Given the description of an element on the screen output the (x, y) to click on. 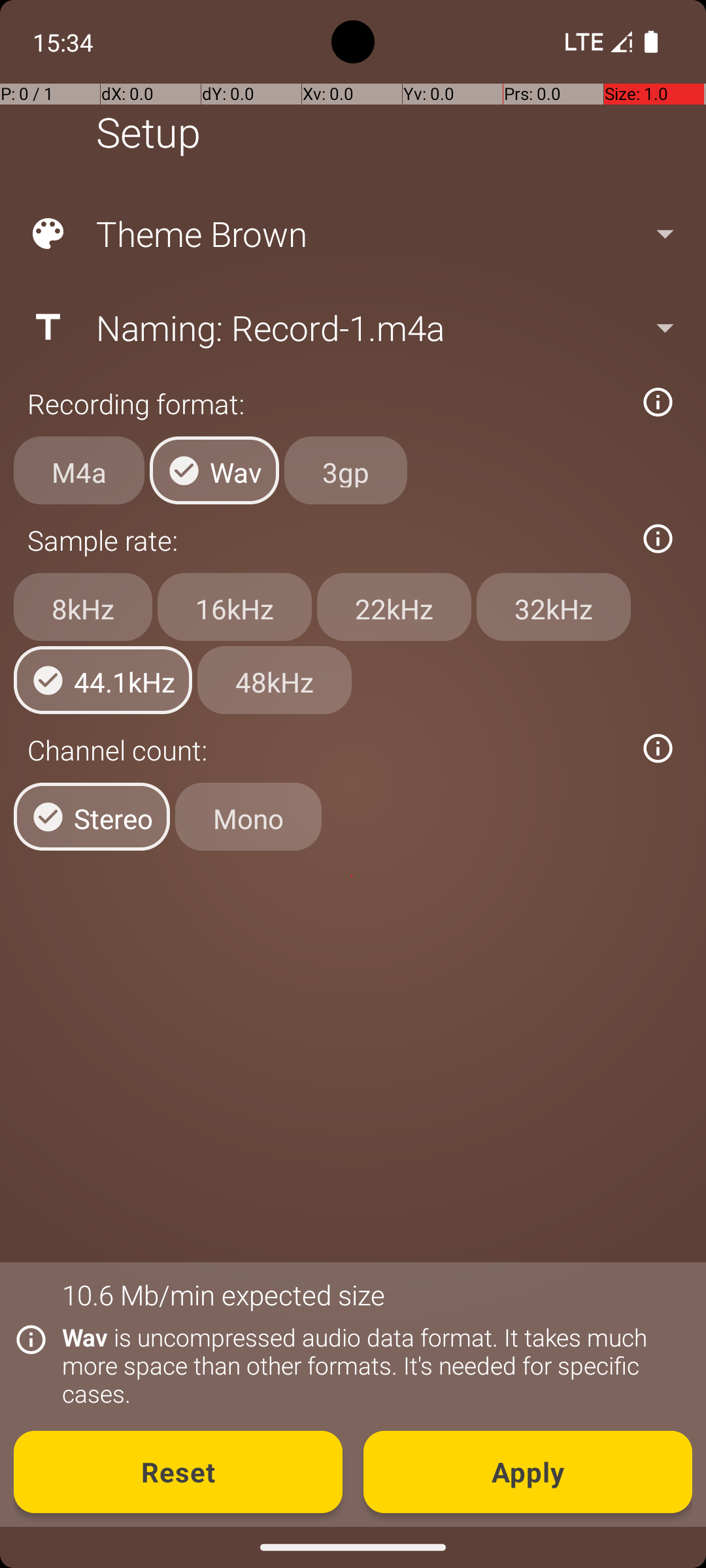
10.6 Mb/min expected size Element type: android.widget.TextView (223, 1294)
Wav is uncompressed audio data format. It takes much more space than other formats. It's needed for specific cases. Element type: android.widget.TextView (370, 1364)
Theme Brown Element type: android.widget.TextView (352, 233)
Phone one bar. Element type: android.widget.FrameLayout (595, 41)
